Given the description of an element on the screen output the (x, y) to click on. 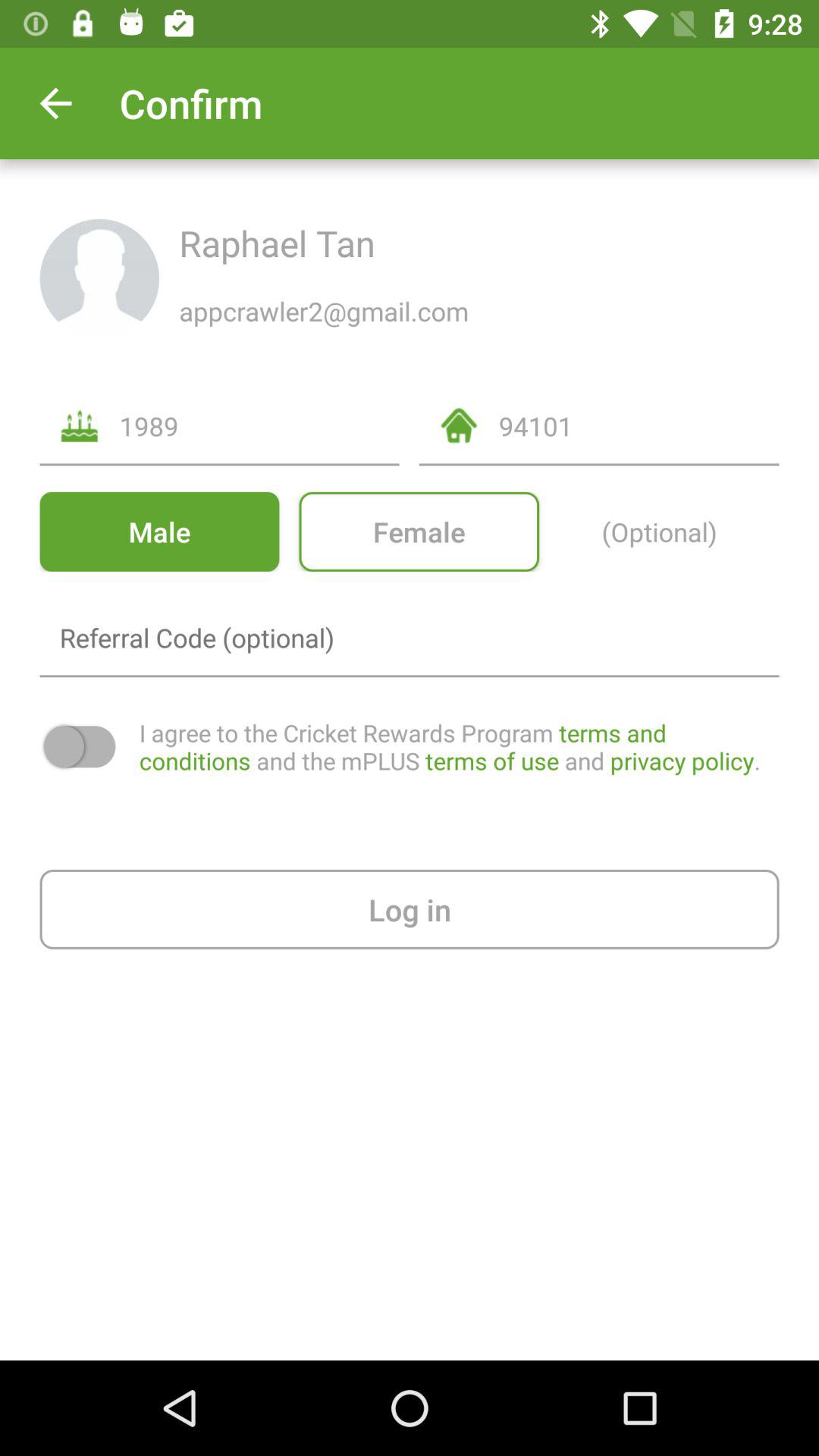
turn off the icon to the left of the confirm app (55, 103)
